Given the description of an element on the screen output the (x, y) to click on. 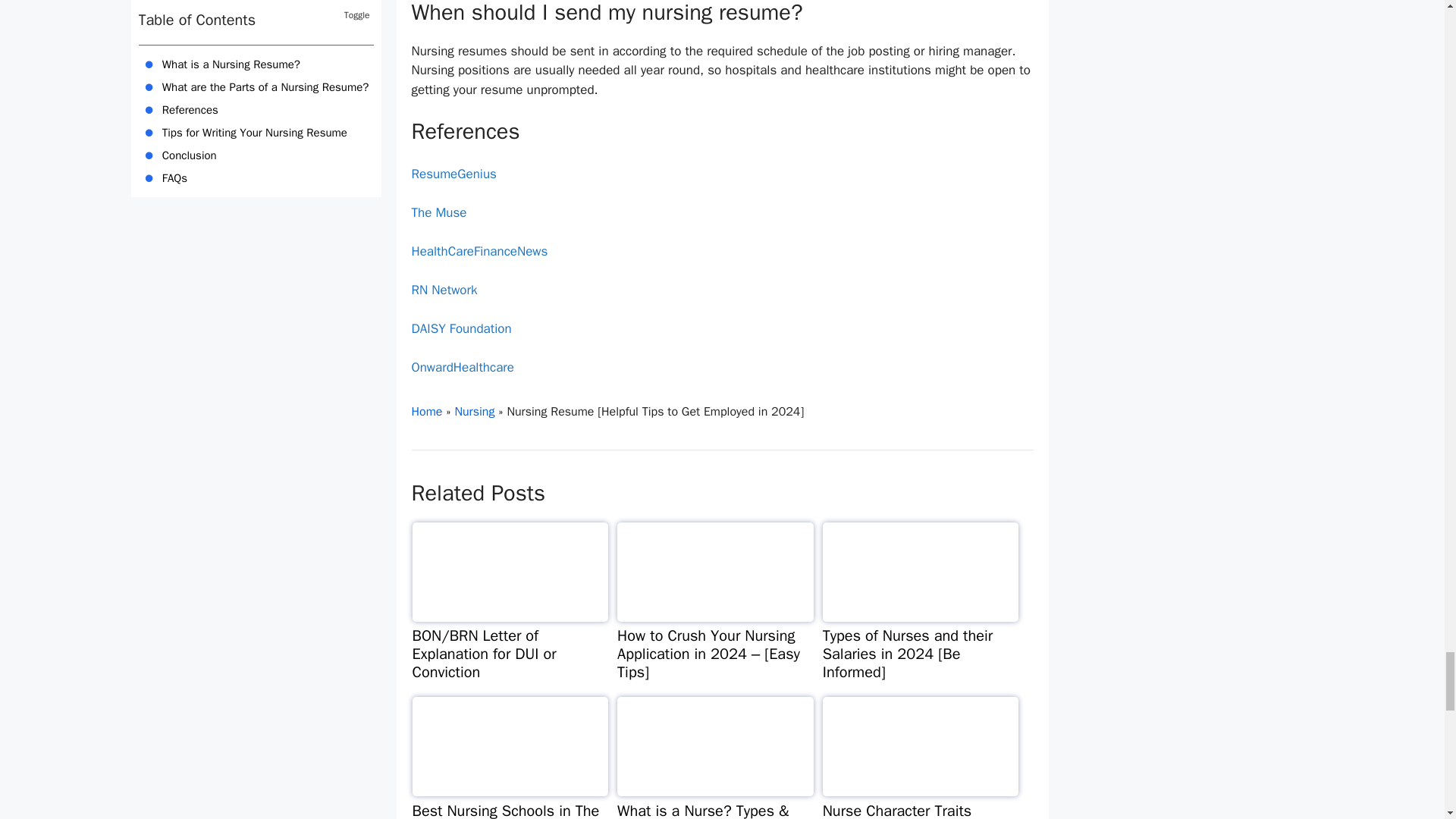
HealthCareFinanceNews (478, 251)
Home (426, 411)
OnwardHealthcare (461, 367)
ResumeGenius (453, 173)
The Muse (437, 212)
DAISY Foundation (460, 328)
RN Network (443, 289)
Nursing (474, 411)
